Given the description of an element on the screen output the (x, y) to click on. 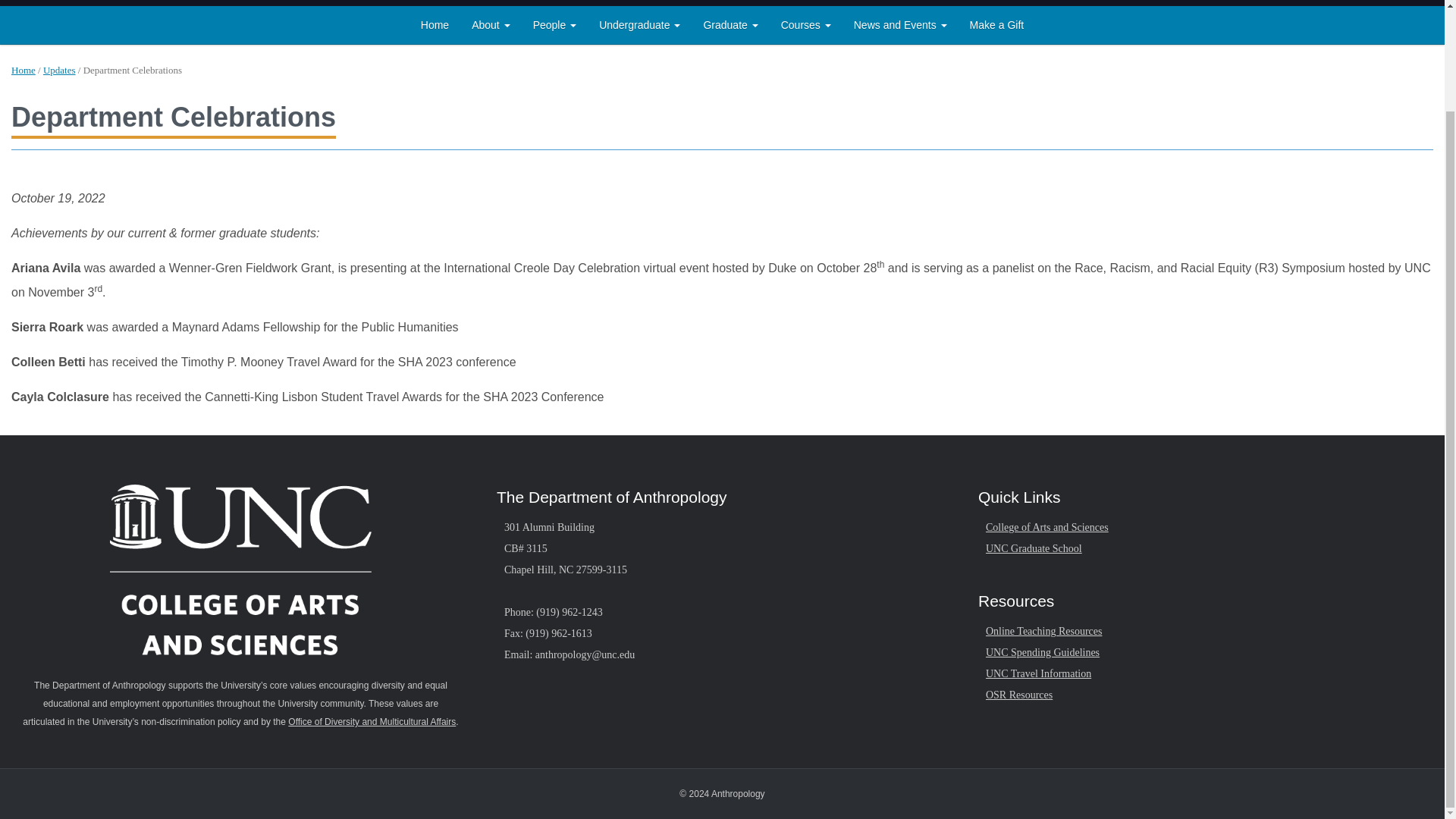
About (490, 24)
Home (434, 24)
Make a Gift (996, 24)
Graduate (729, 24)
Undergraduate (639, 24)
Courses (806, 24)
Updates (59, 70)
People (554, 24)
Home (22, 70)
News and Events (900, 24)
